Given the description of an element on the screen output the (x, y) to click on. 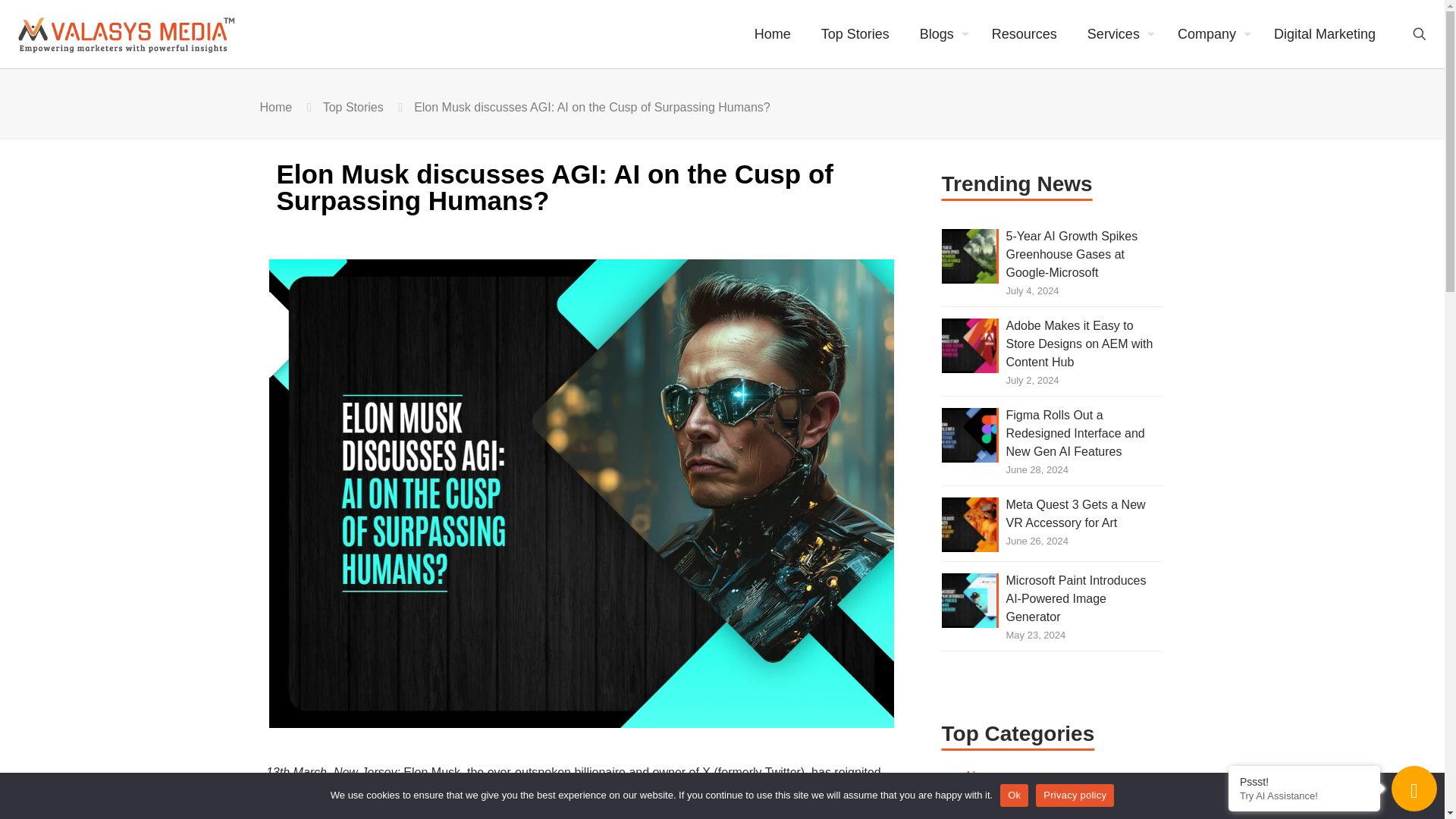
Resources (1023, 33)
Digital Marketing (1324, 33)
Top Stories (855, 33)
Try AI Assistance! (1304, 795)
Pssst! (1304, 781)
No (1425, 795)
Blogs (940, 33)
Services (1116, 33)
Home (275, 106)
Top Stories (353, 106)
Valasys Media (135, 33)
Home (772, 33)
Company (1210, 33)
